Given the description of an element on the screen output the (x, y) to click on. 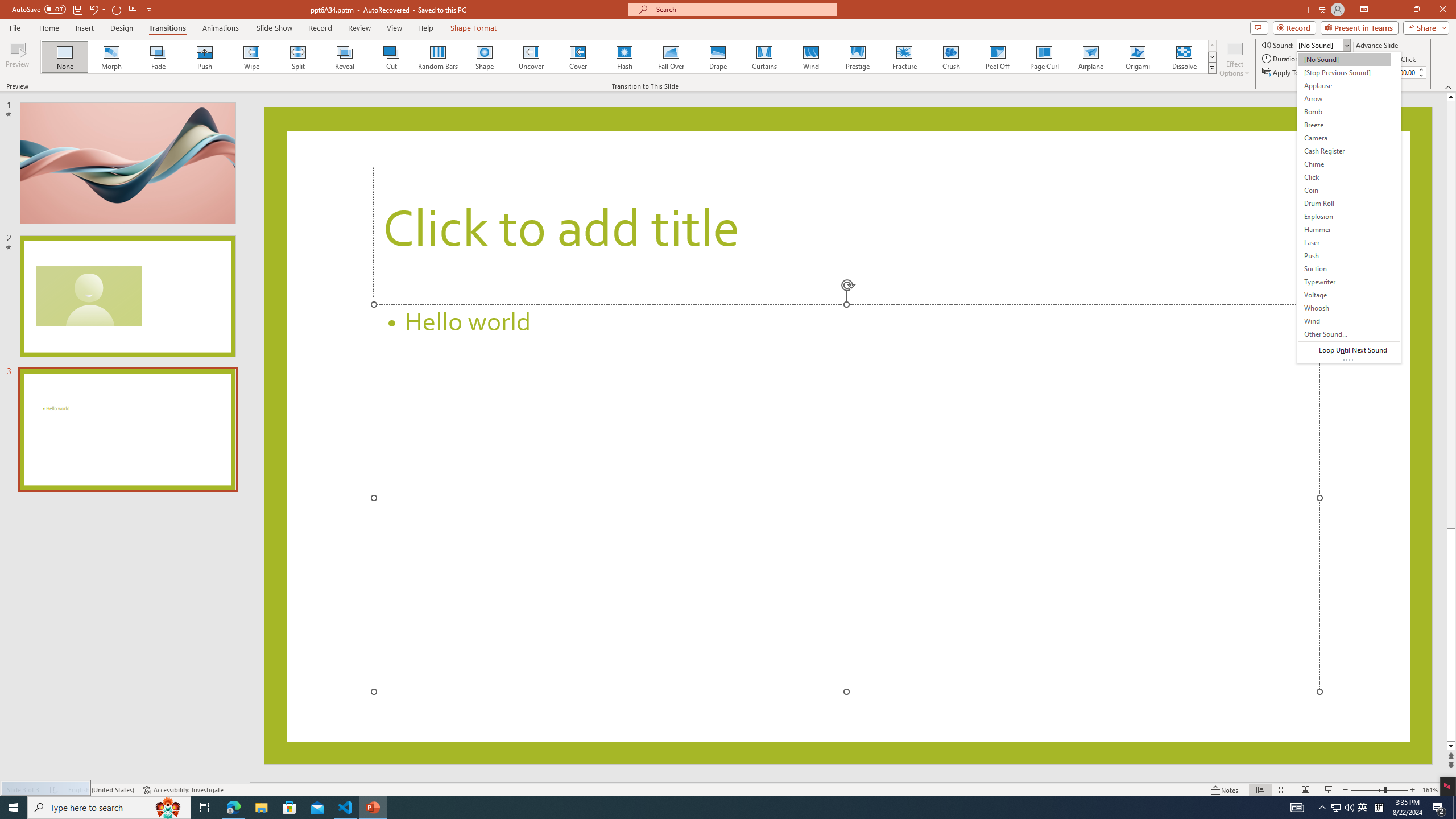
AutomationID: AnimationTransitionGallery (628, 56)
Peel Off (997, 56)
